Given the description of an element on the screen output the (x, y) to click on. 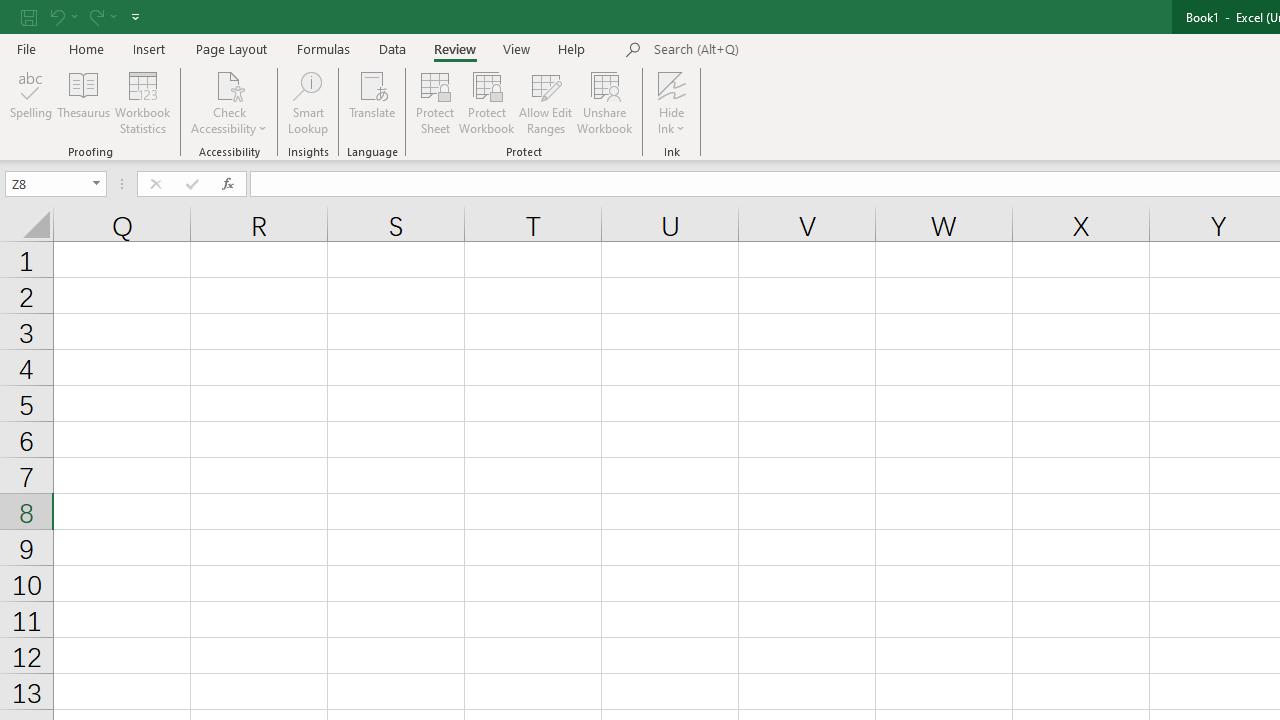
Check Accessibility (229, 84)
Hide Ink (671, 84)
Thesaurus... (83, 102)
